Given the description of an element on the screen output the (x, y) to click on. 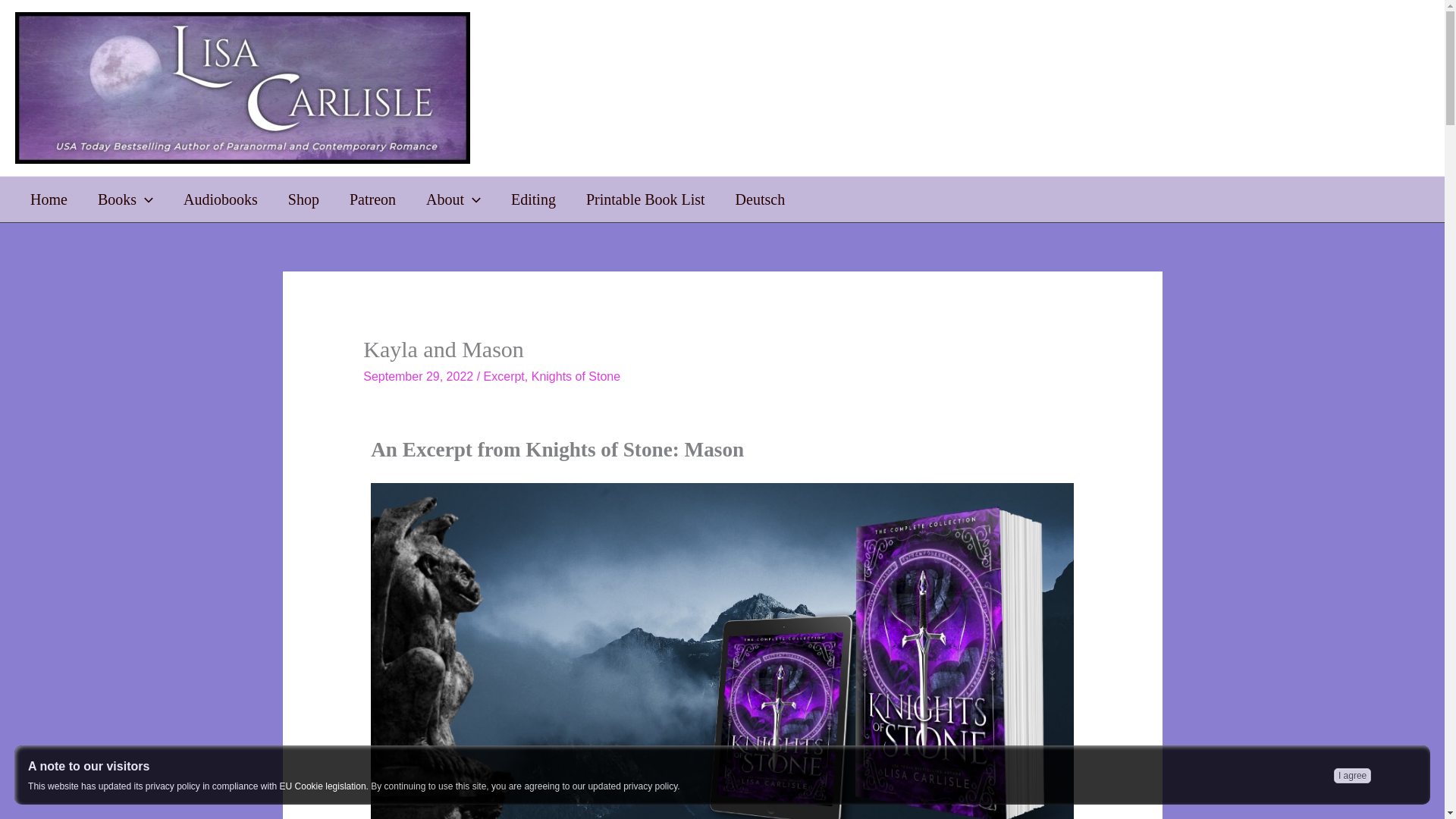
Shop (303, 198)
Home (48, 198)
I agree (1352, 775)
About (453, 198)
Deutsch (760, 198)
Editing (533, 198)
Patreon (372, 198)
Audiobooks (220, 198)
Printable Book List (645, 198)
Books (125, 198)
